Given the description of an element on the screen output the (x, y) to click on. 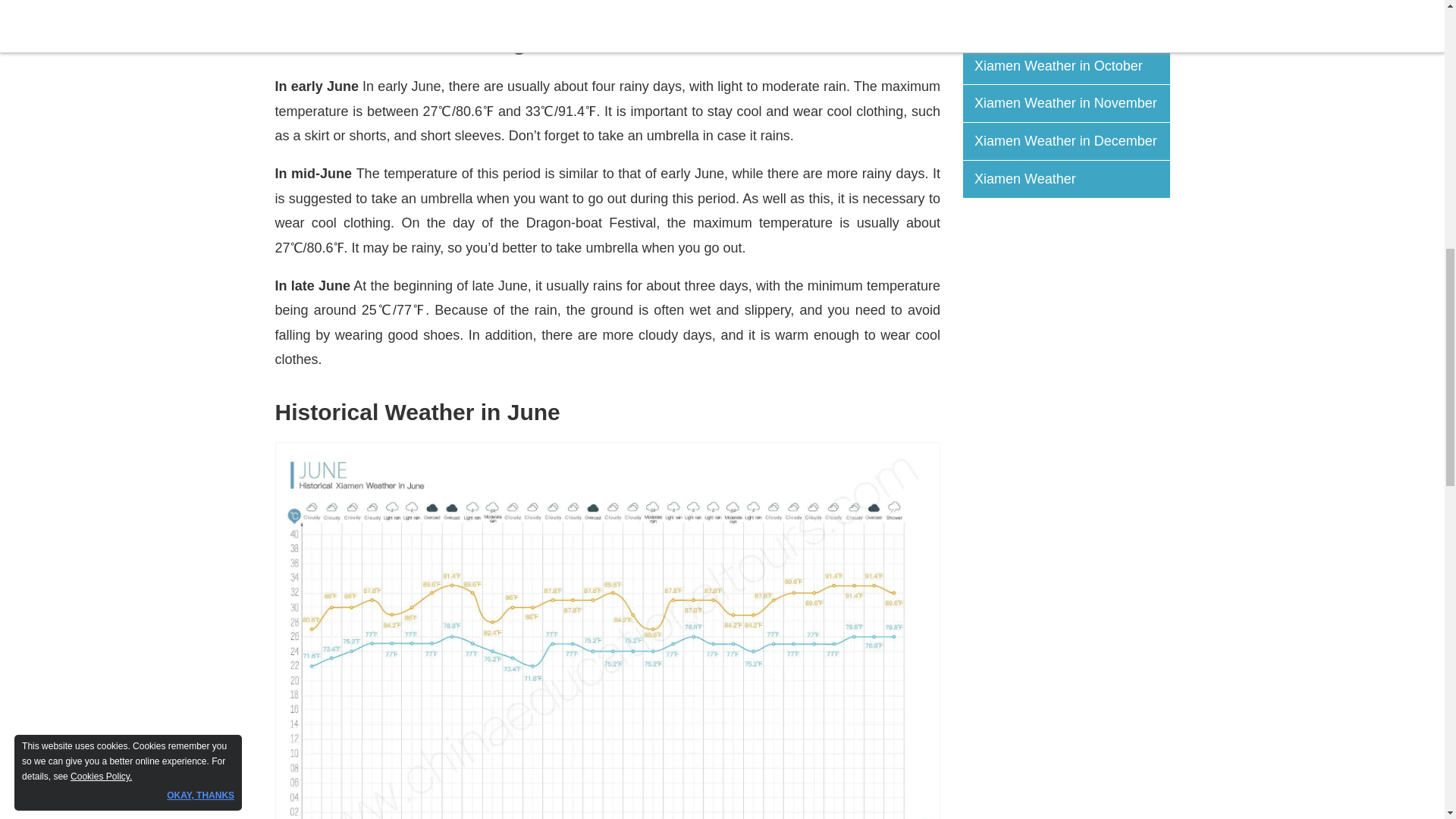
Xiamen Weather in October (1072, 65)
Xiamen Weather in December (1072, 141)
Xiamen Weather in November (1072, 103)
Xiamen Weather (1072, 179)
Xiamen Weather in September (1072, 28)
